Given the description of an element on the screen output the (x, y) to click on. 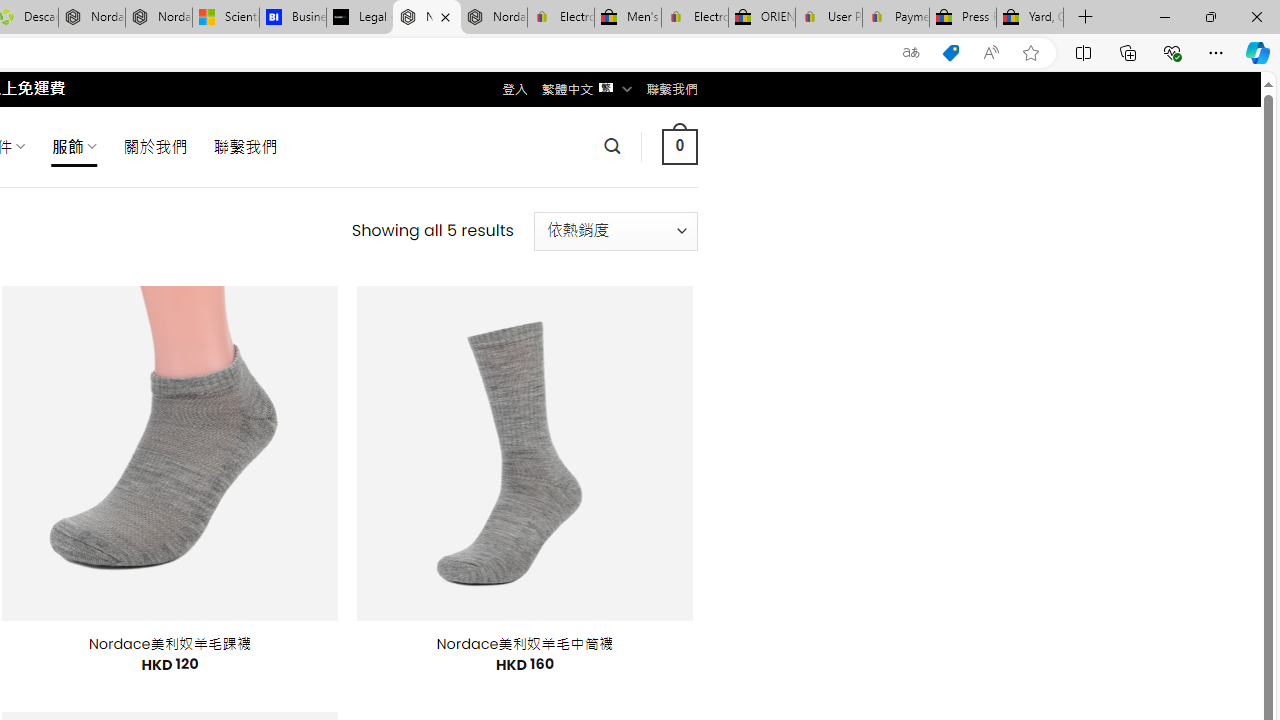
Yard, Garden & Outdoor Living (1030, 17)
 0  (679, 146)
  0   (679, 146)
